Given the description of an element on the screen output the (x, y) to click on. 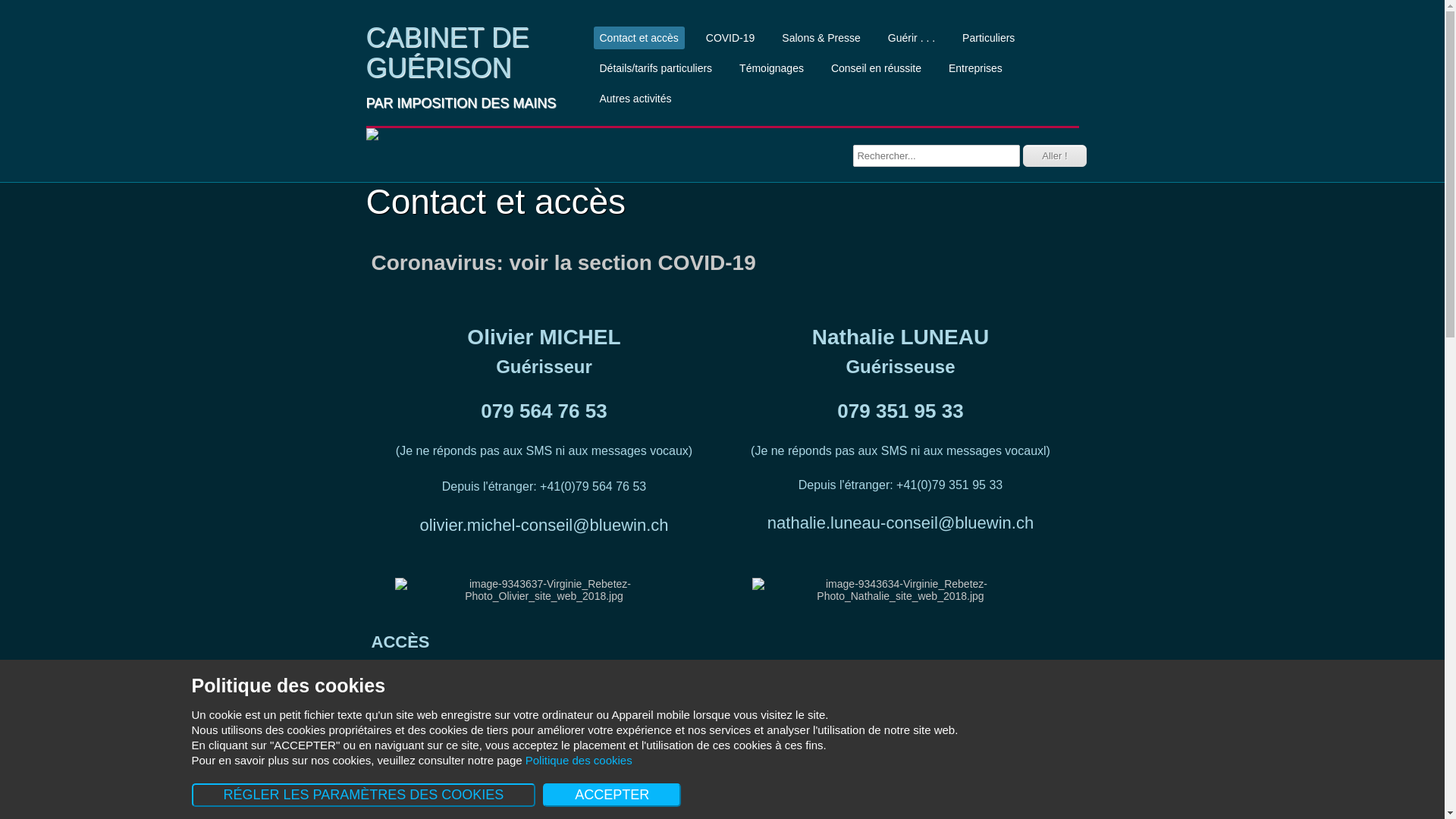
COVID-19 Element type: text (730, 37)
Particuliers Element type: text (988, 37)
Entreprises Element type: text (975, 67)
Salons & Presse Element type: text (820, 37)
ACCEPTER Element type: text (611, 794)
Politique des cookies Element type: text (578, 759)
